Given the description of an element on the screen output the (x, y) to click on. 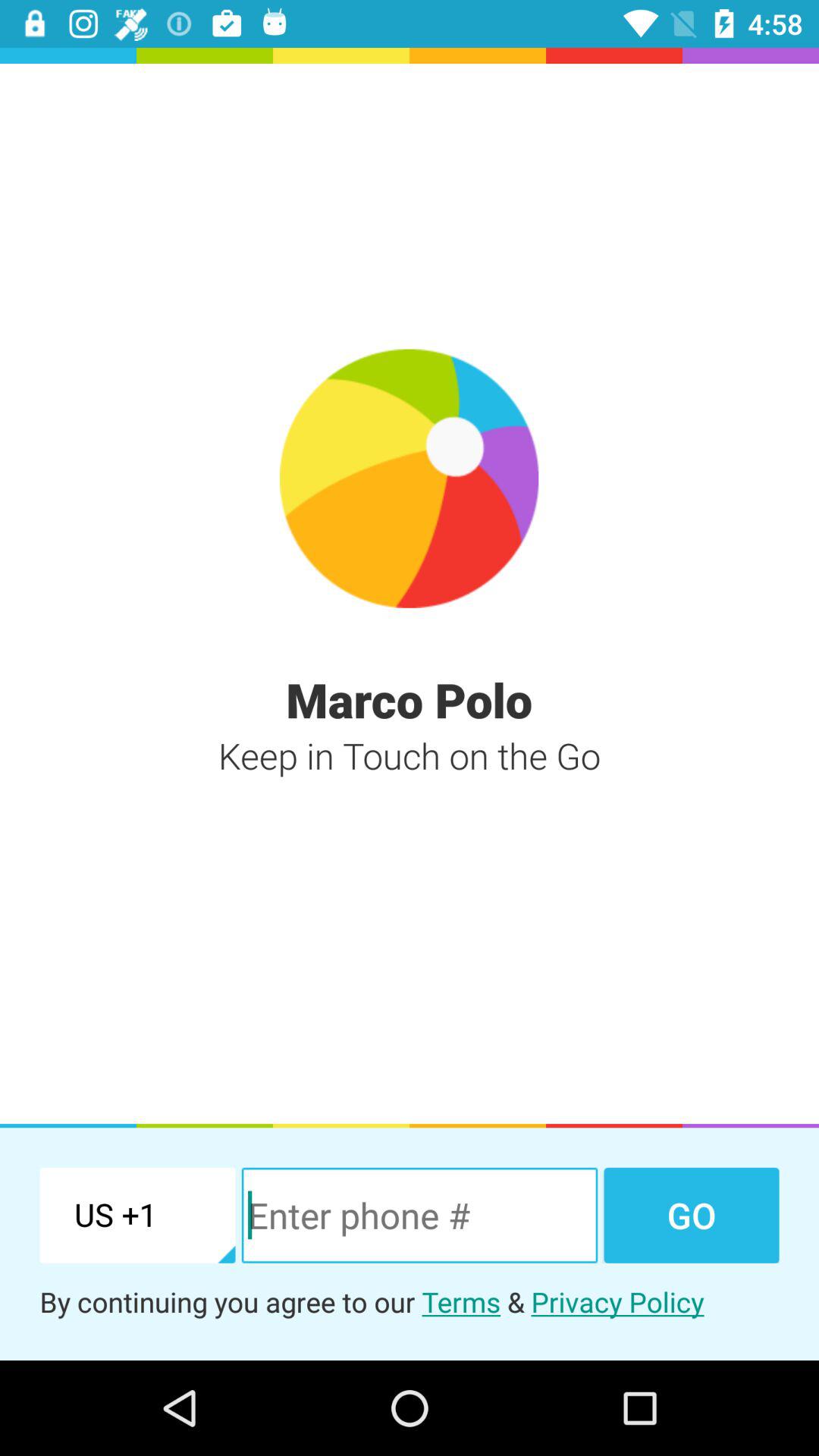
turn off the by continuing you icon (409, 1301)
